Given the description of an element on the screen output the (x, y) to click on. 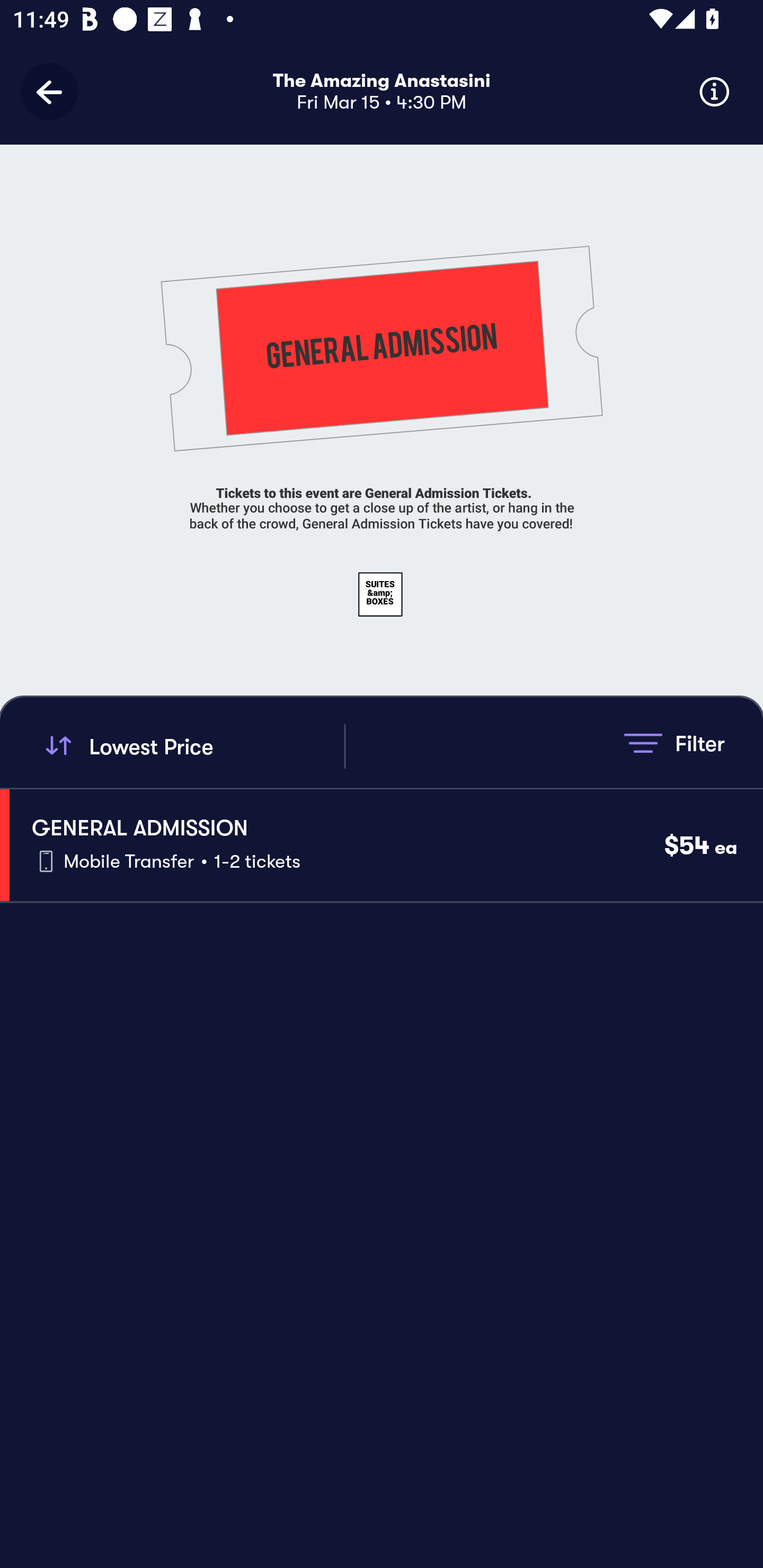
Lowest Price (191, 746)
Filter (674, 743)
